Given the description of an element on the screen output the (x, y) to click on. 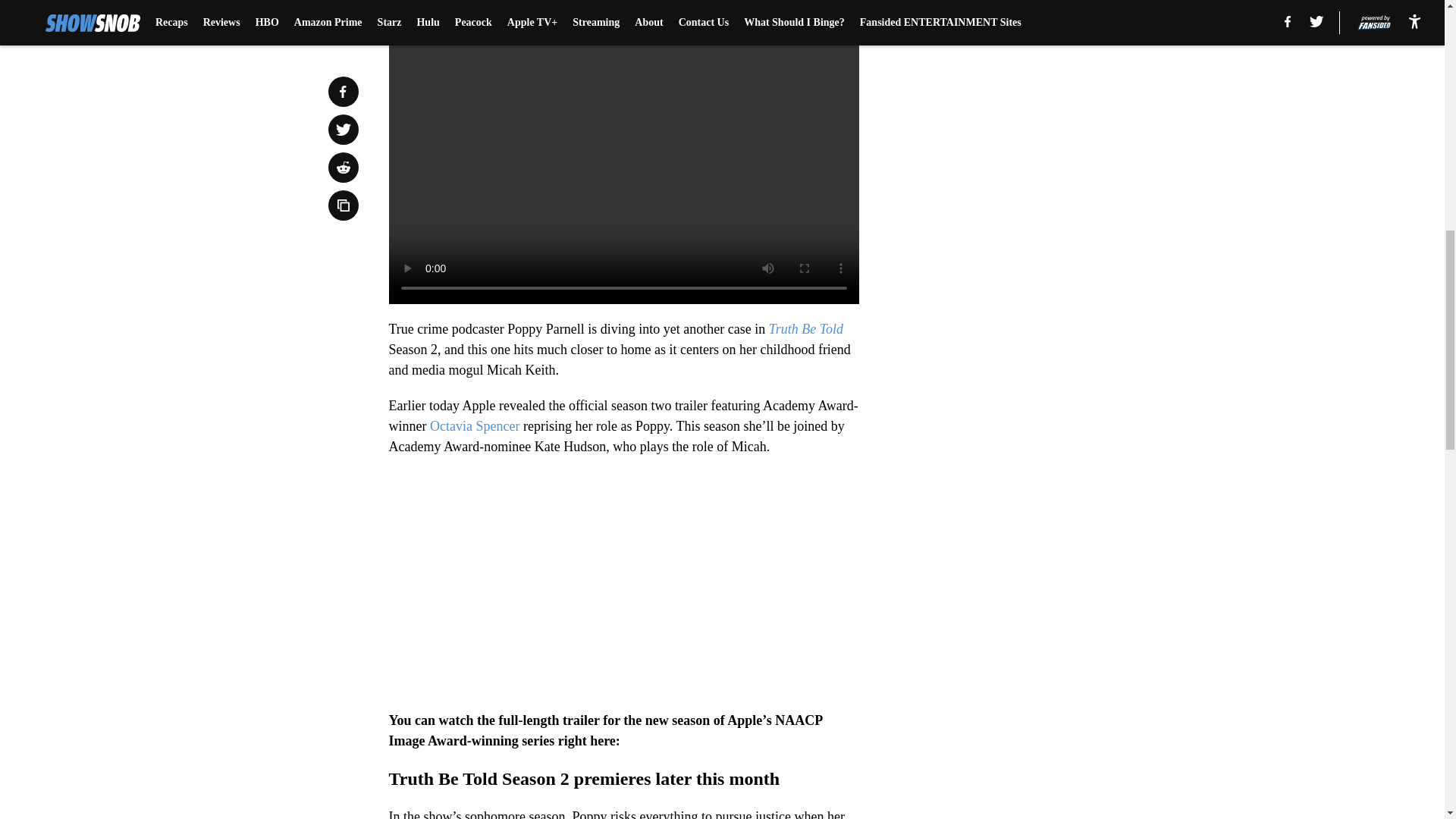
3rd party ad content (1047, 134)
3rd party ad content (1047, 353)
Truth Be Told (805, 328)
Octavia Spencer (474, 426)
